Given the description of an element on the screen output the (x, y) to click on. 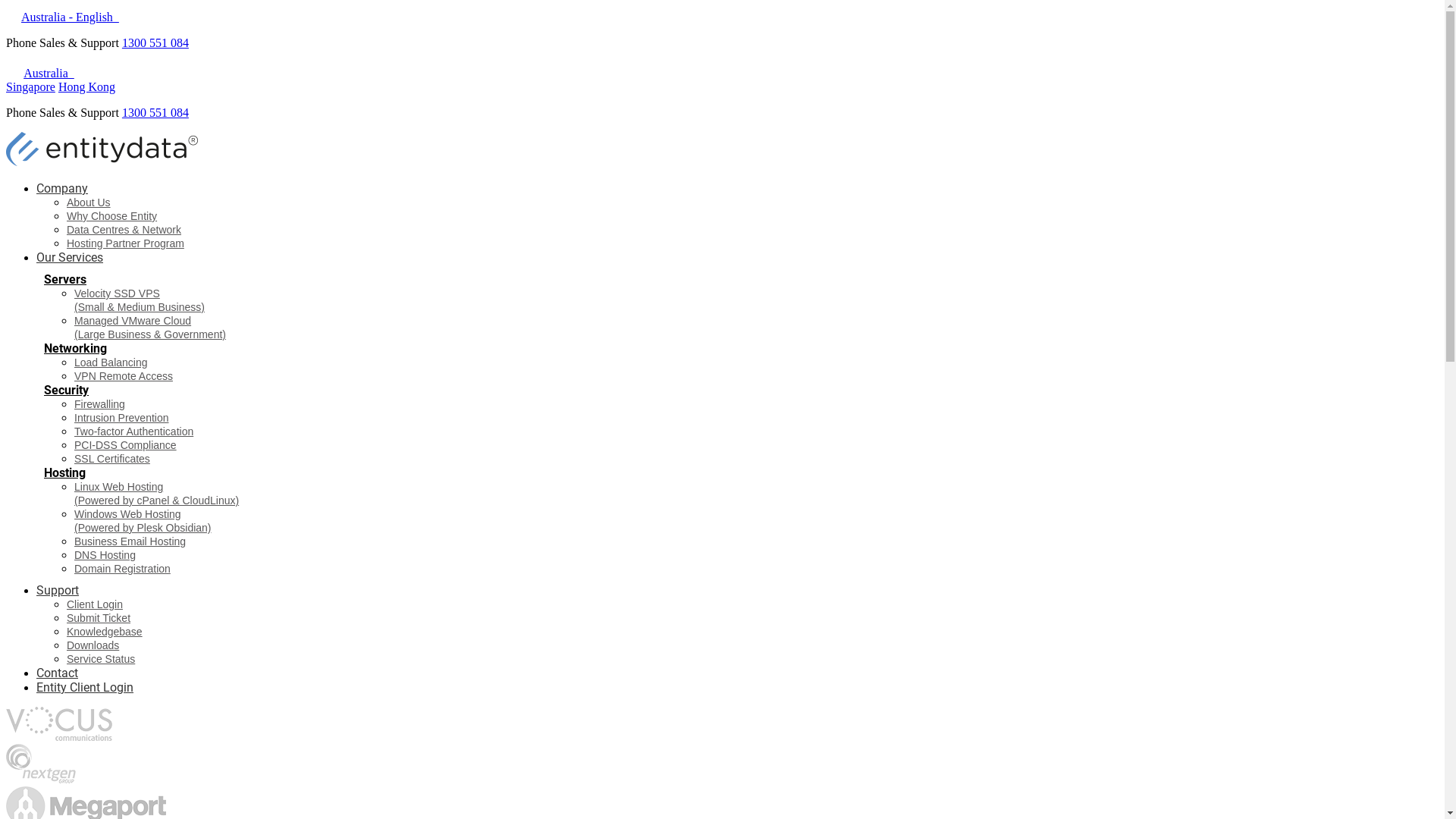
1300 551 084 Element type: text (155, 42)
Intrusion Prevention Element type: text (121, 417)
1300 551 084 Element type: text (155, 112)
Velocity SSD VPS
(Small & Medium Business) Element type: text (139, 300)
Why Choose Entity Element type: text (111, 216)
Knowledgebase Element type: text (104, 631)
Two-factor Authentication Element type: text (133, 431)
Support Element type: text (57, 590)
Contact Element type: text (57, 672)
Australia   Element type: text (48, 72)
Linux Web Hosting
(Powered by cPanel & CloudLinux) Element type: text (156, 493)
Submit Ticket Element type: text (98, 617)
Hosting Element type: text (64, 472)
SSL Certificates Element type: text (112, 458)
Company Element type: text (61, 188)
Hosting Partner Program Element type: text (125, 243)
DNS Hosting Element type: text (104, 555)
Service Status Element type: text (100, 658)
About Us Element type: text (88, 202)
Data Centres & Network Element type: text (123, 229)
VPN Remote Access Element type: text (123, 376)
Hong Kong Element type: text (86, 86)
Entity Client Login Element type: text (84, 687)
Business Email Hosting Element type: text (129, 541)
Security Element type: text (65, 389)
Downloads Element type: text (92, 645)
Singapore Element type: text (30, 86)
Our Services Element type: text (69, 257)
Servers Element type: text (64, 279)
Client Login Element type: text (94, 604)
Firewalling Element type: text (99, 404)
Managed VMware Cloud
(Large Business & Government) Element type: text (149, 327)
PCI-DSS Compliance Element type: text (125, 445)
Networking Element type: text (74, 348)
Load Balancing Element type: text (110, 362)
Australia - English   Element type: text (62, 16)
Domain Registration Element type: text (122, 568)
Windows Web Hosting
(Powered by Plesk Obsidian) Element type: text (142, 520)
